Given the description of an element on the screen output the (x, y) to click on. 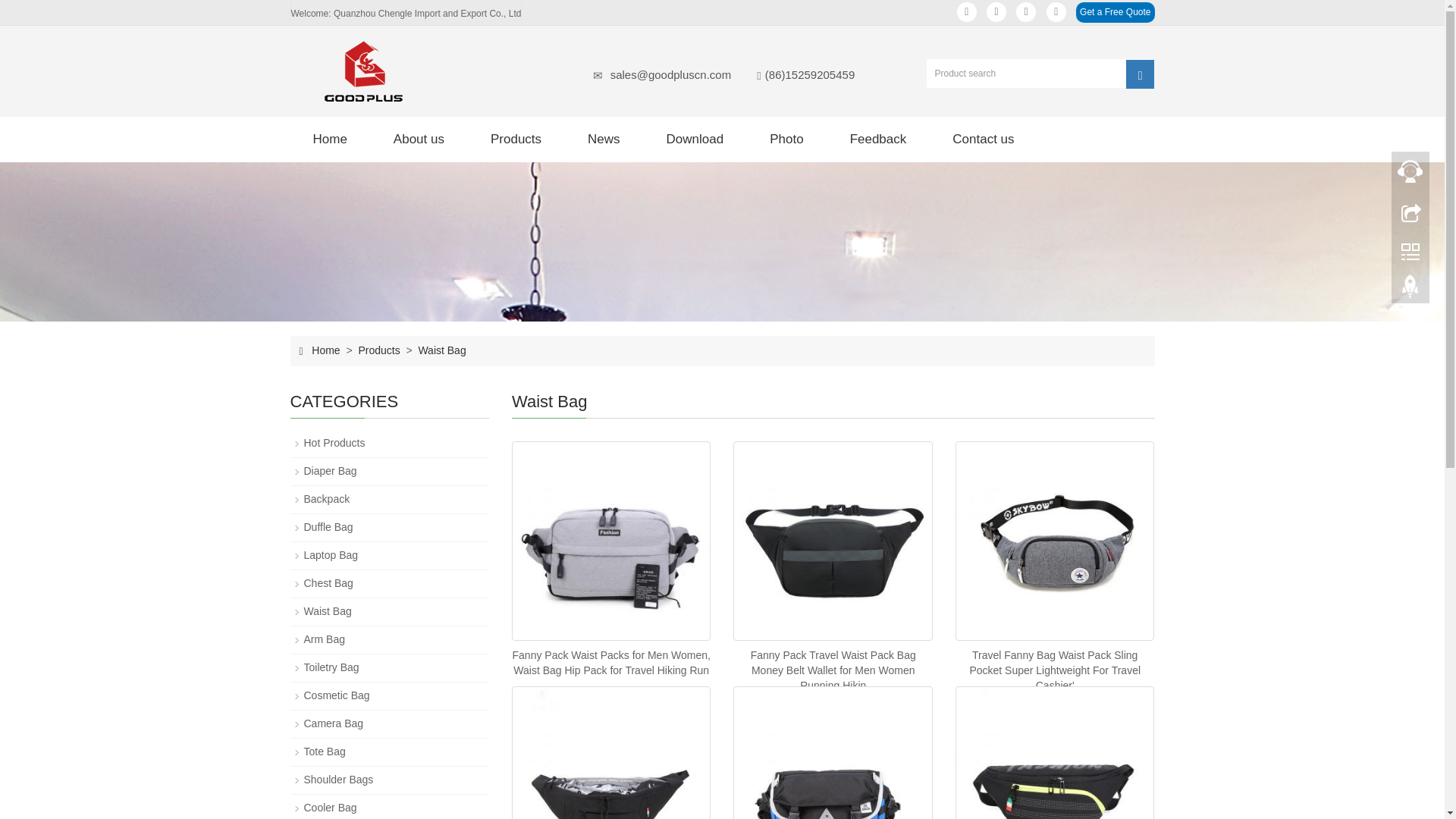
Get a Free Quote (1114, 12)
Product search (1139, 72)
Products (515, 139)
Top (1410, 290)
Download (694, 139)
About us (419, 139)
Home (329, 139)
